Given the description of an element on the screen output the (x, y) to click on. 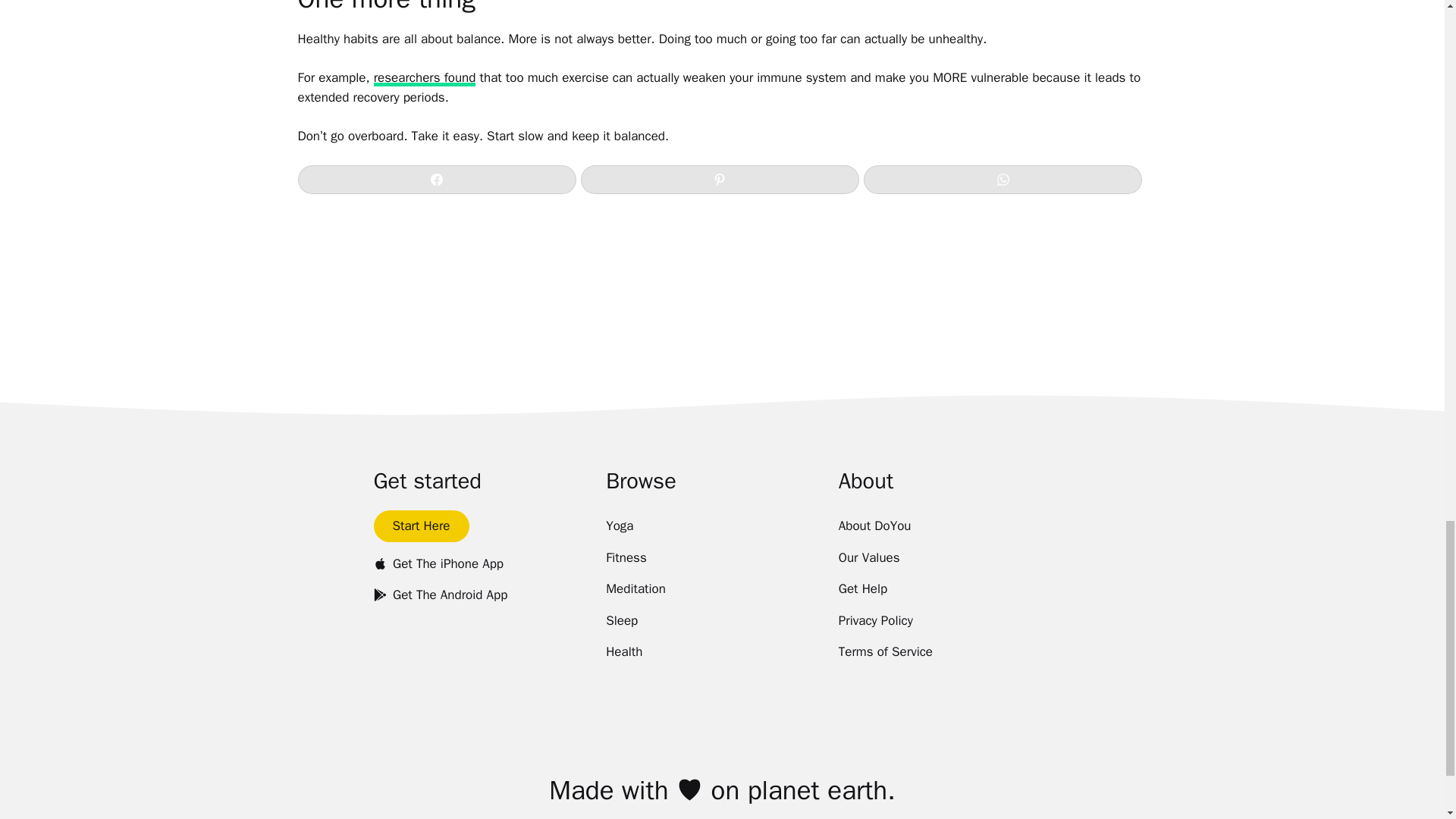
Start Here (420, 526)
Get Help (863, 589)
Get The iPhone App (437, 563)
Get The Android App (439, 594)
Meditation (635, 589)
Fitness (625, 558)
researchers found (425, 77)
Terms of Service (885, 652)
Sleep (621, 621)
Privacy Policy (875, 621)
